Given the description of an element on the screen output the (x, y) to click on. 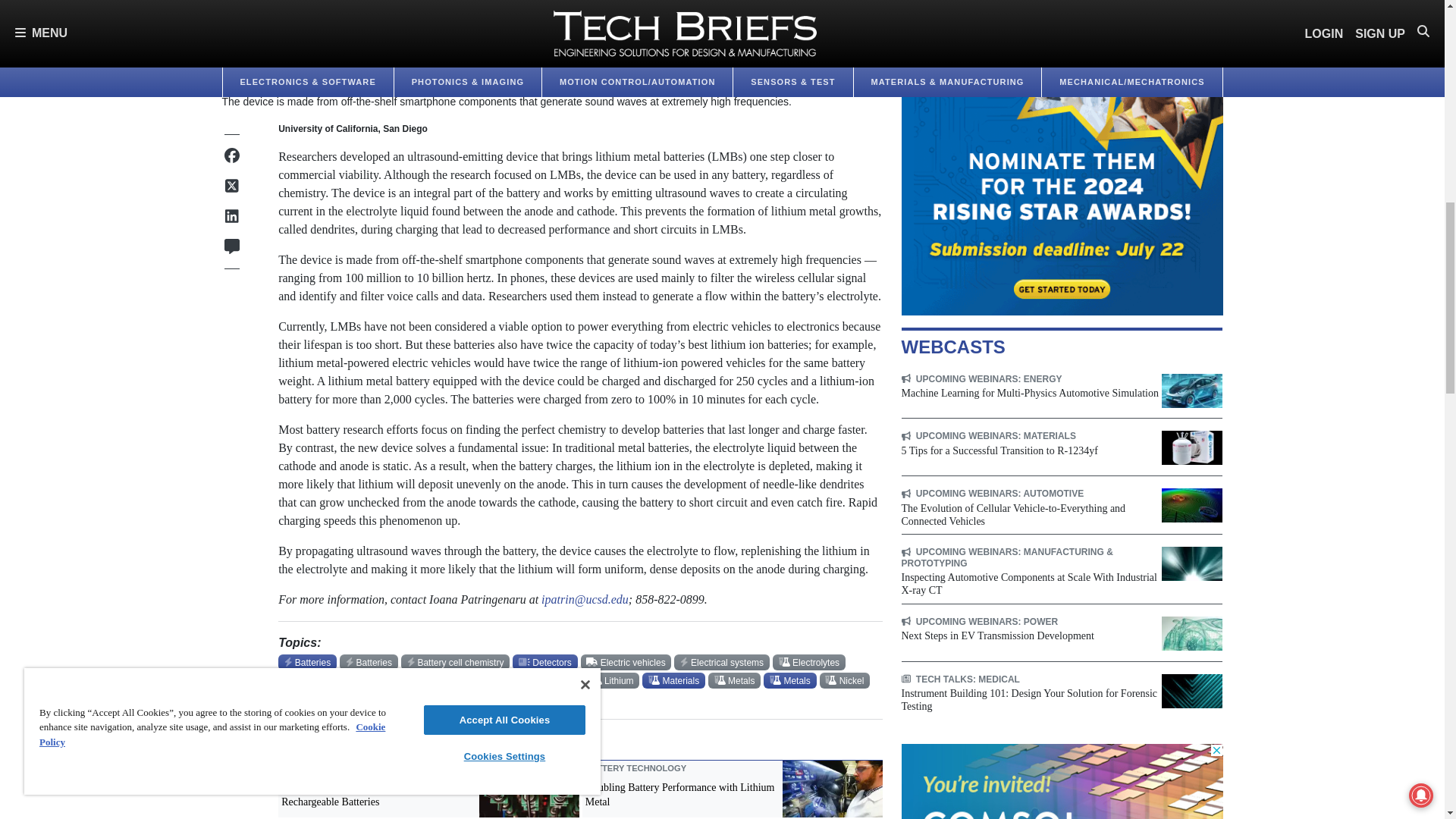
3rd party ad content (1062, 157)
3rd party ad content (1062, 781)
